Given the description of an element on the screen output the (x, y) to click on. 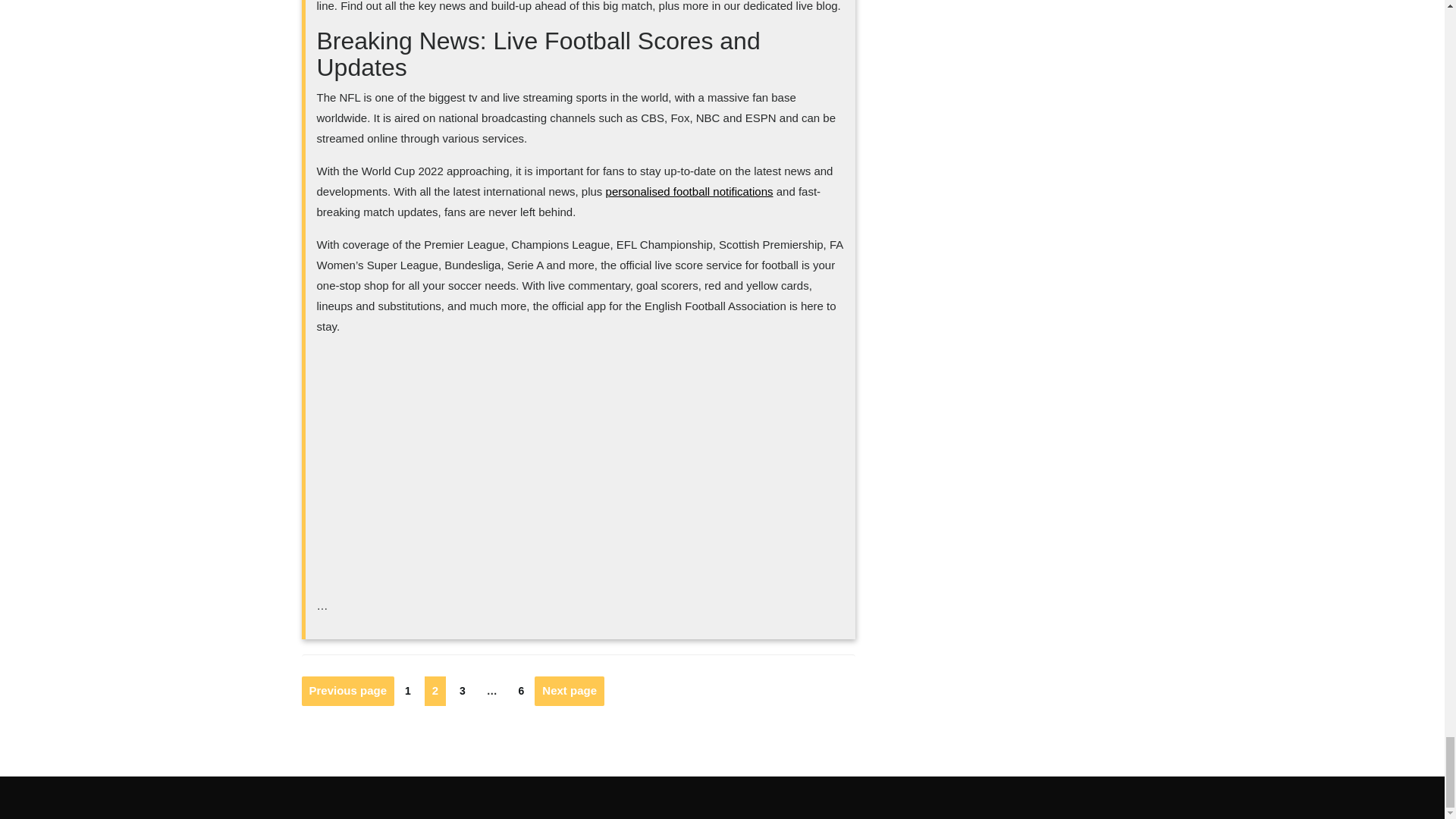
Previous page (347, 690)
personalised football notifications (689, 191)
